Given the description of an element on the screen output the (x, y) to click on. 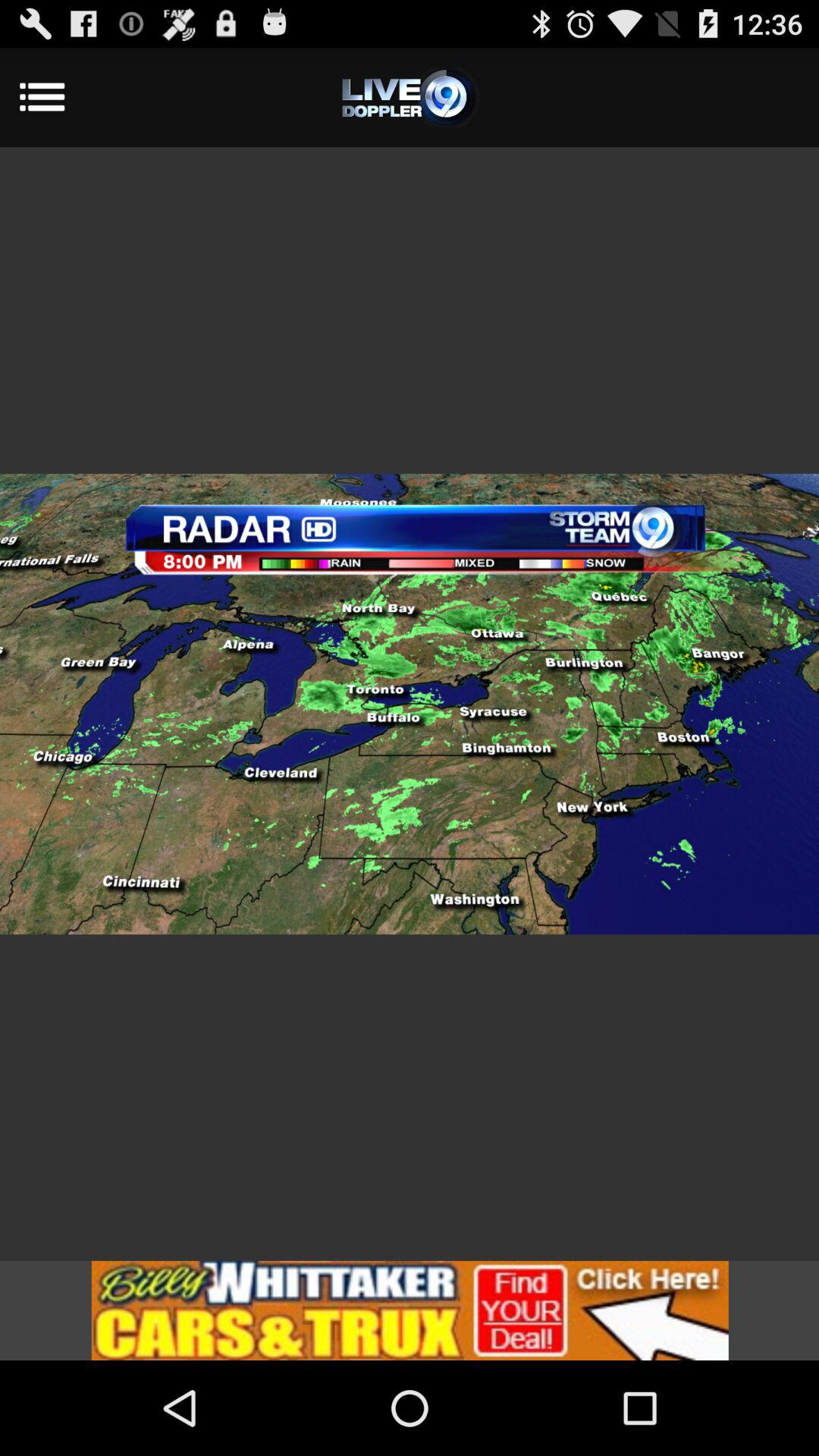
open menu (409, 97)
